Given the description of an element on the screen output the (x, y) to click on. 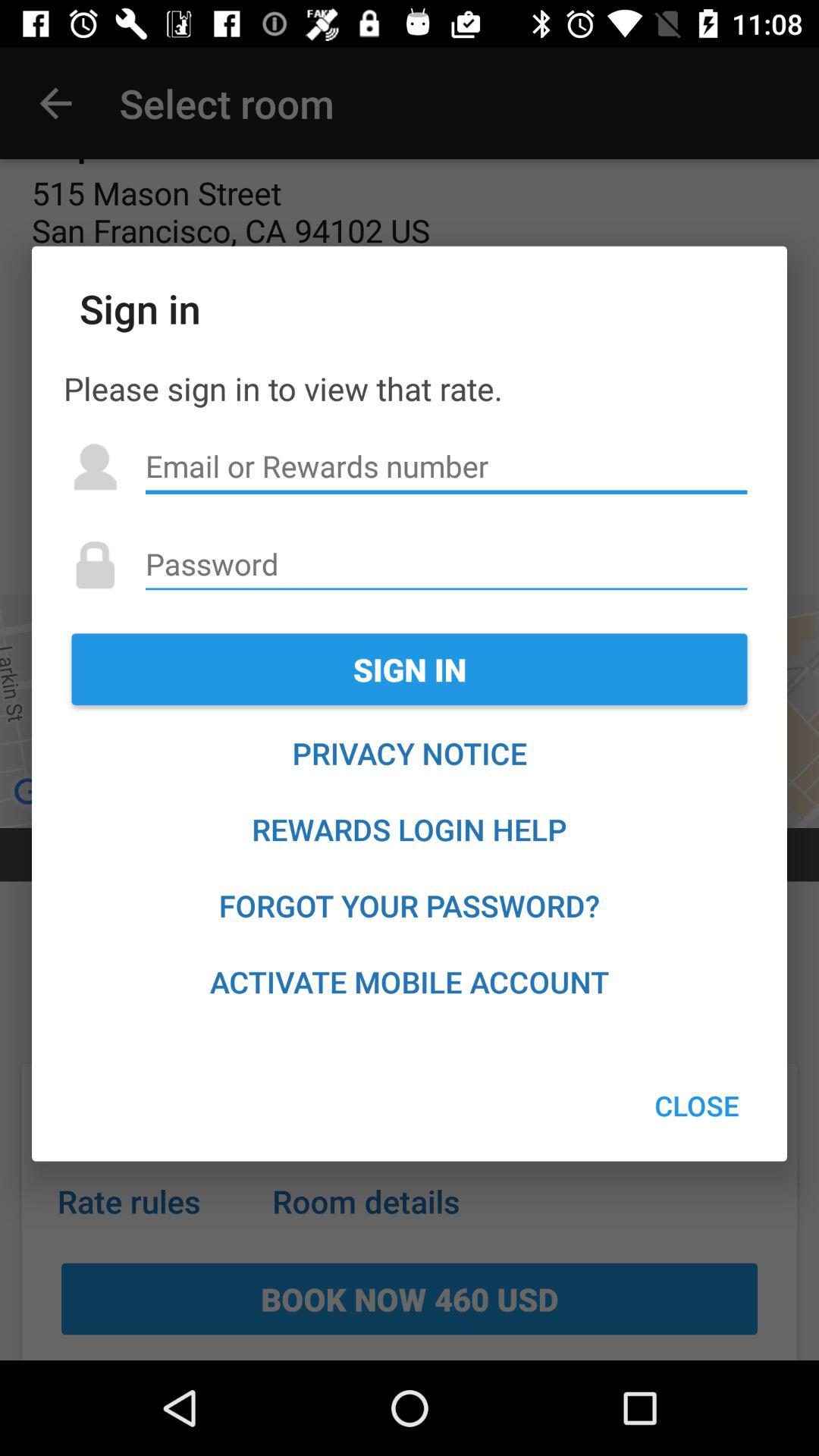
jump until forgot your password? (409, 905)
